Given the description of an element on the screen output the (x, y) to click on. 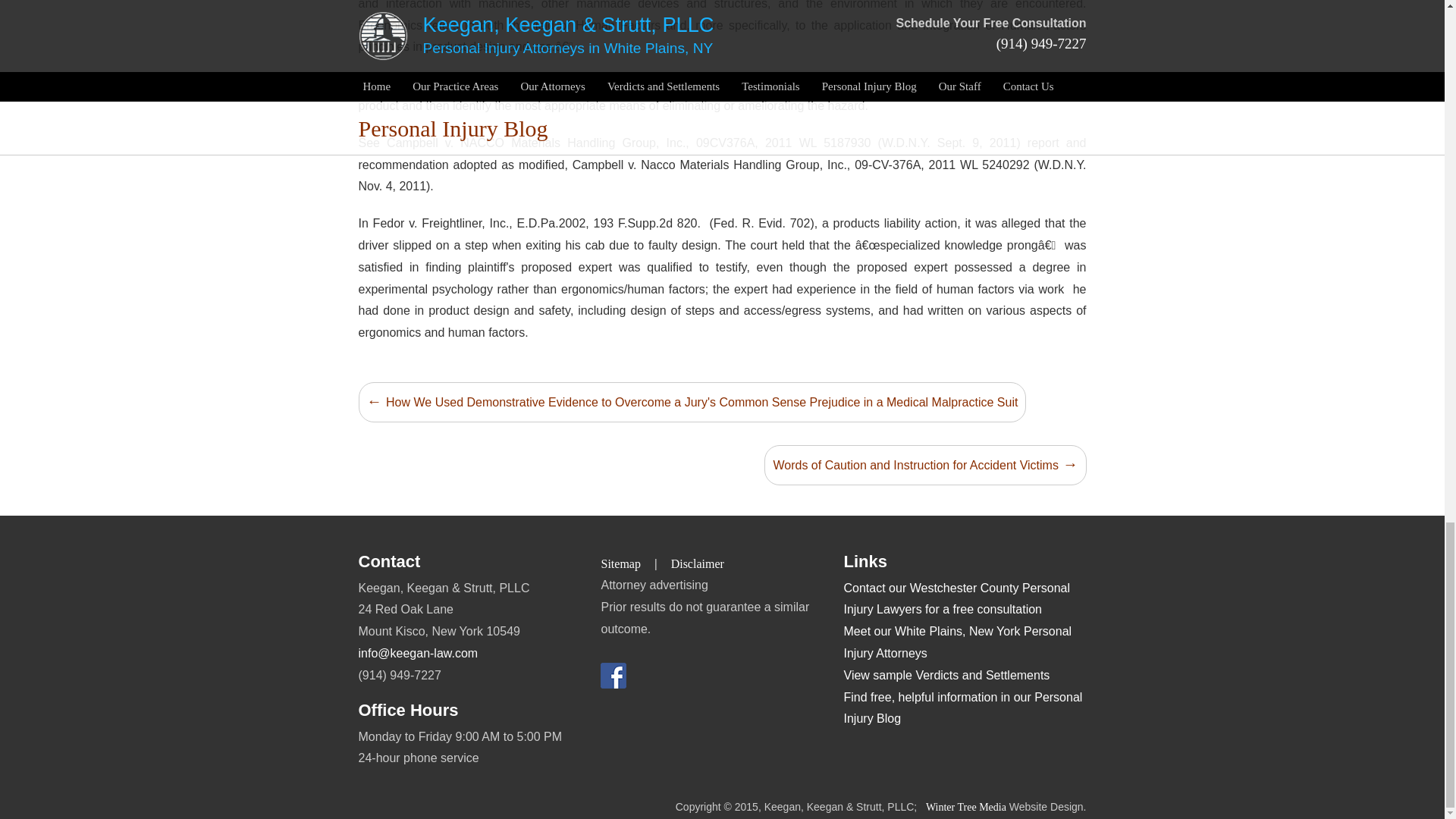
Meet our White Plains, New York Personal Injury Attorneys (957, 642)
View sample Verdicts and Settlements (946, 675)
Disclaimer (697, 563)
Sitemap (619, 563)
Find free, helpful information in our Personal Injury Blog (963, 708)
Winter Tree Media (966, 807)
